Given the description of an element on the screen output the (x, y) to click on. 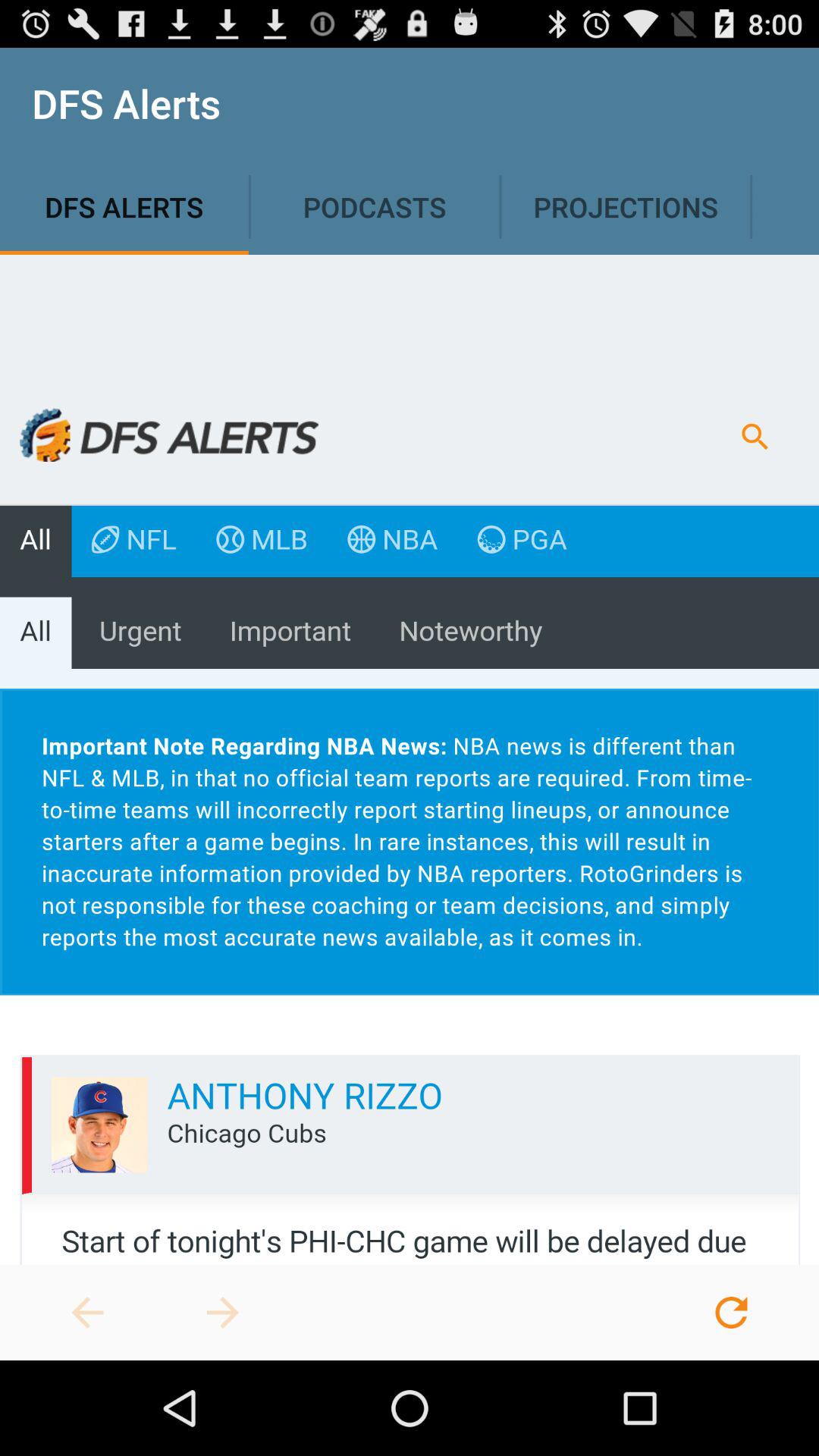
rotogrinders dfs strategy lineups and alerts (222, 1312)
